Given the description of an element on the screen output the (x, y) to click on. 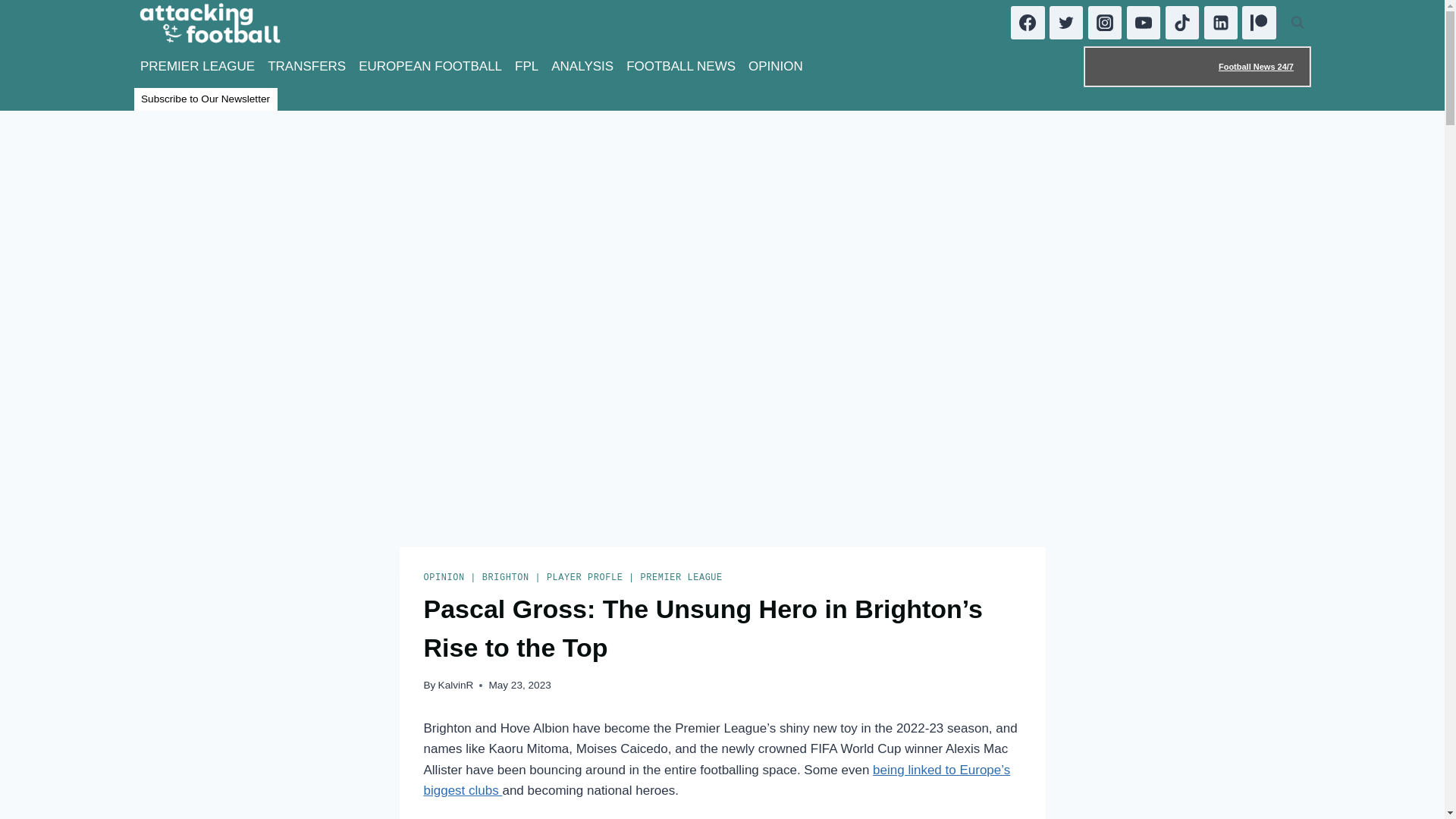
BRIGHTON (505, 577)
PREMIER LEAGUE (196, 66)
OPINION (775, 66)
KalvinR (456, 685)
TRANSFERS (307, 66)
ANALYSIS (582, 66)
PREMIER LEAGUE (681, 577)
Click here for more Football news from NewsNow (1196, 65)
PLAYER PROFLE (585, 577)
FOOTBALL NEWS (681, 66)
OPINION (443, 577)
Subscribe to Our Newsletter (204, 98)
EUROPEAN FOOTBALL (430, 66)
